Given the description of an element on the screen output the (x, y) to click on. 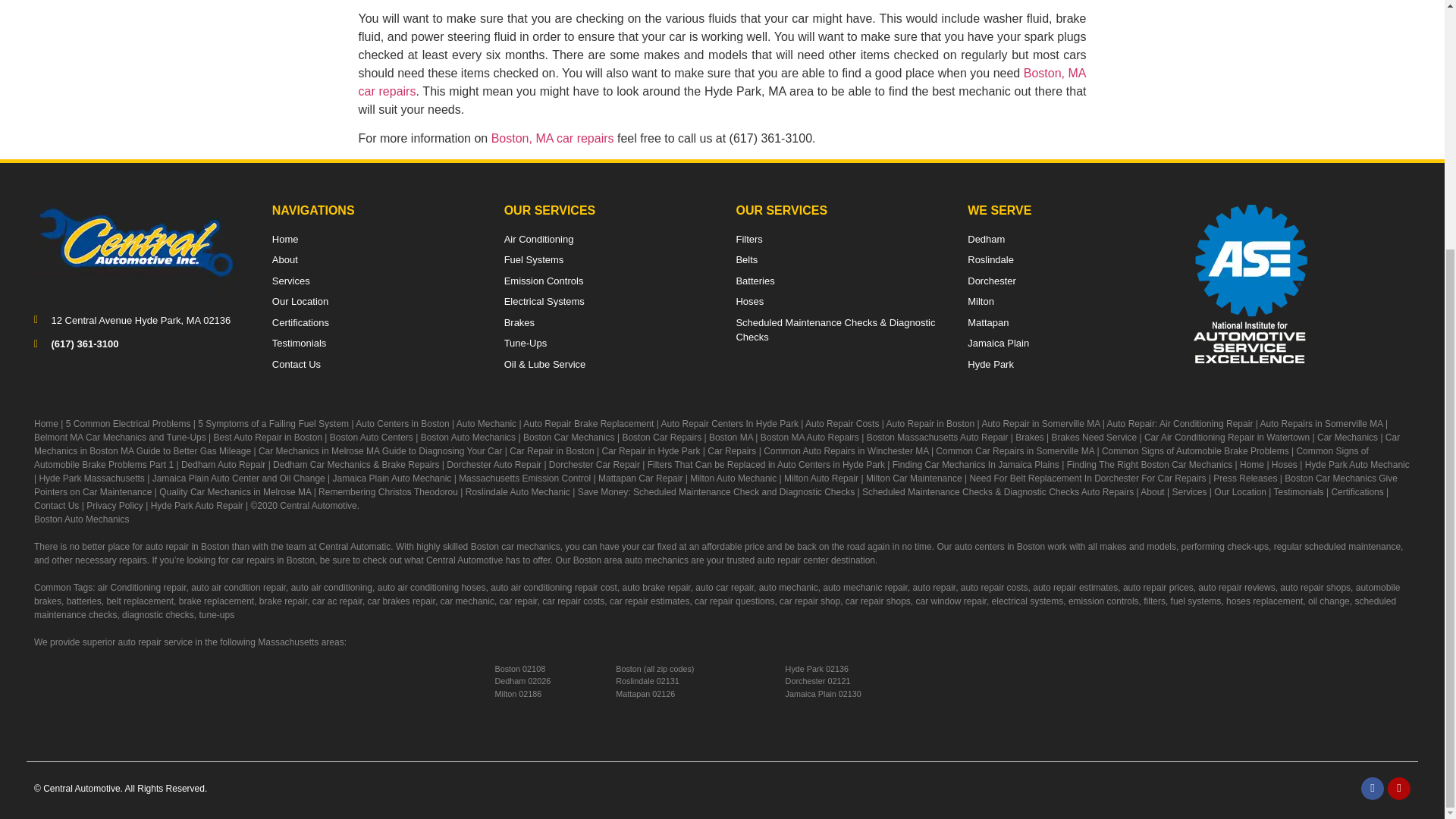
Boston, MA car repairs (722, 81)
Boston, MA car repairs (553, 137)
Our Location (374, 301)
Certifications (374, 322)
Services (374, 281)
Home (553, 137)
About (374, 259)
Car Repair In Boston (722, 81)
Home (374, 239)
